Given the description of an element on the screen output the (x, y) to click on. 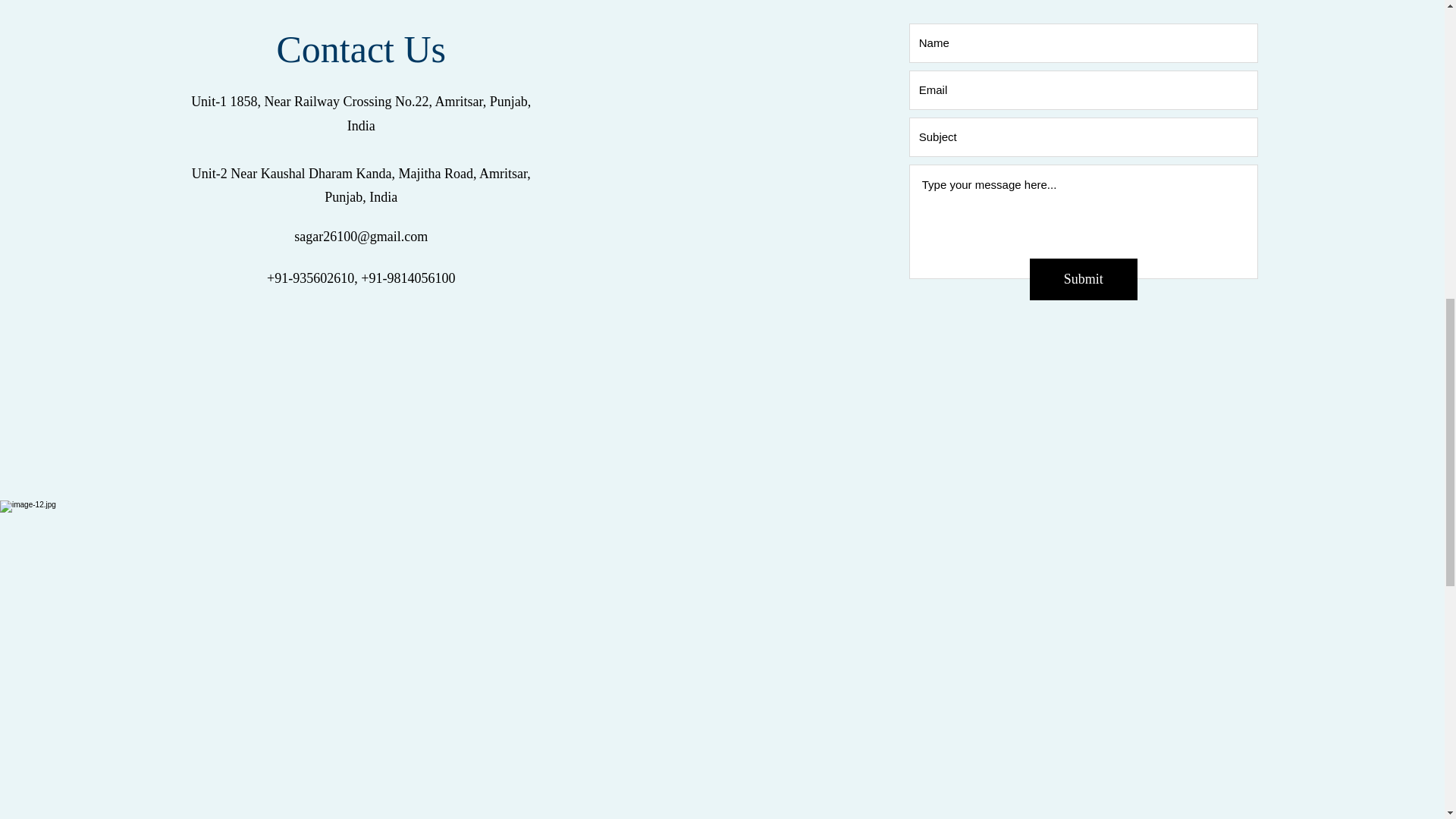
Submit (1083, 279)
